Given the description of an element on the screen output the (x, y) to click on. 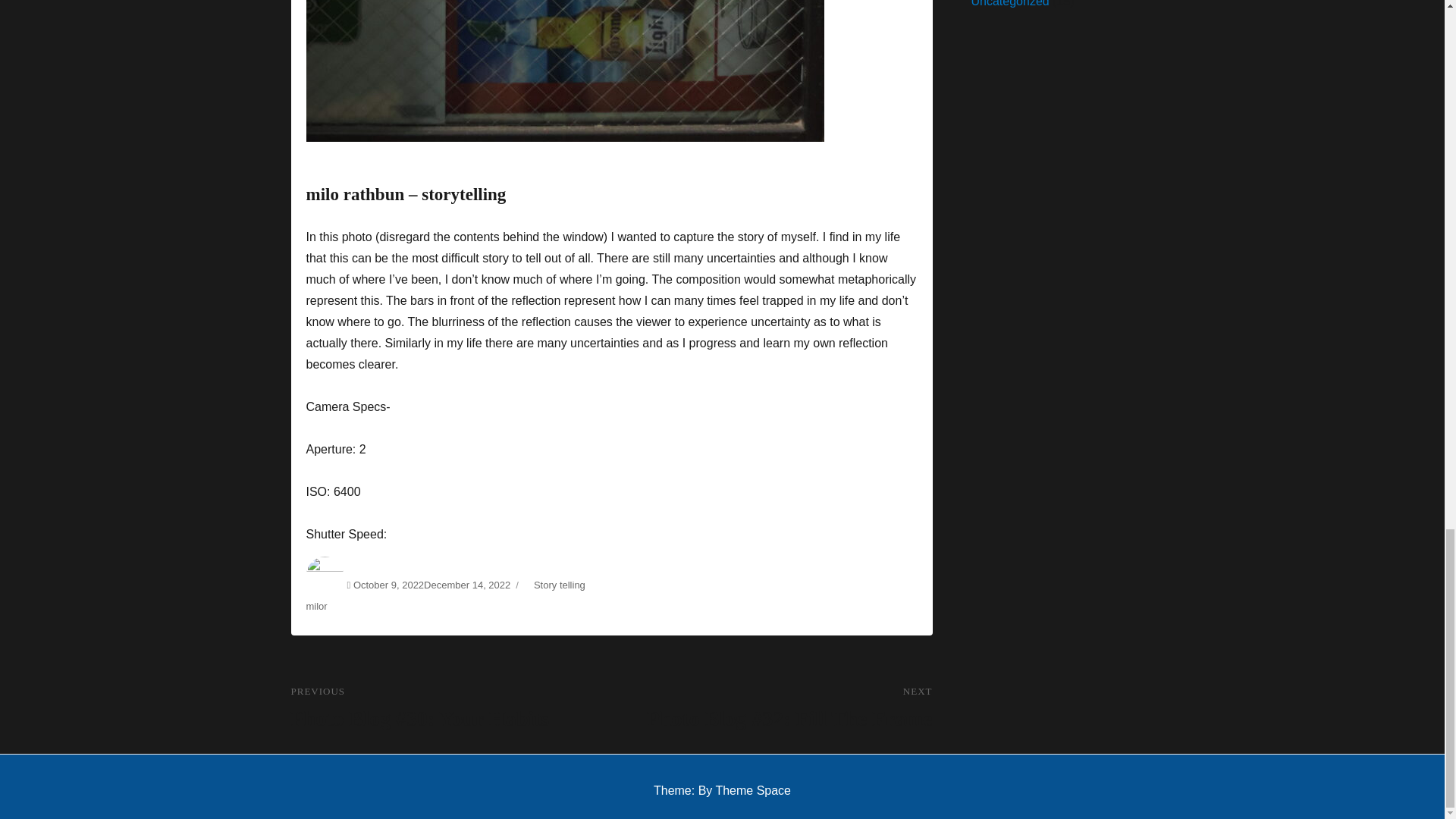
Uncategorized (1009, 3)
October 9, 2022December 14, 2022 (432, 584)
Theme: By Theme Space (721, 789)
Story telling (559, 584)
milor (316, 605)
